Given the description of an element on the screen output the (x, y) to click on. 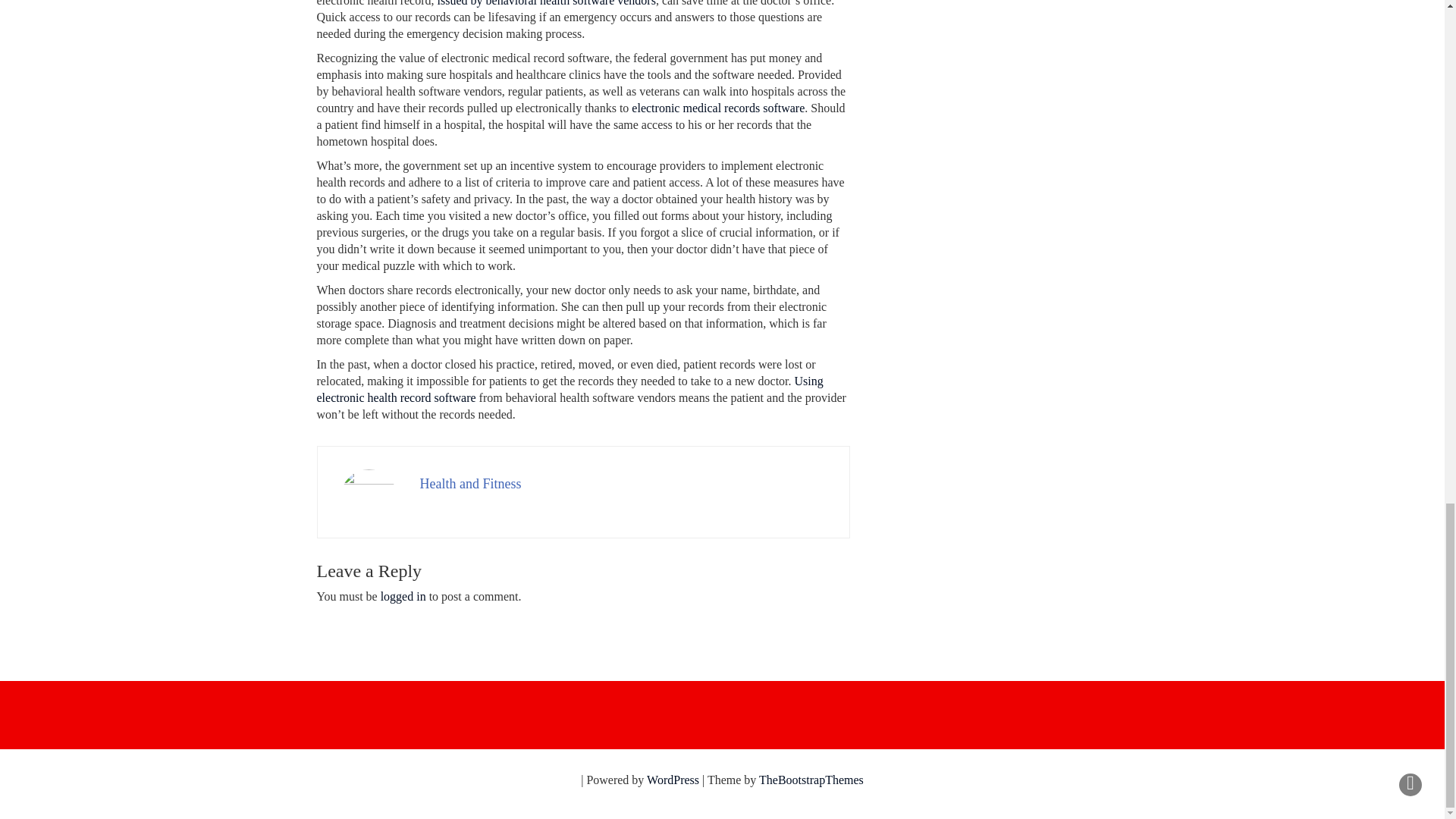
TheBootstrapThemes (810, 779)
Using electronic health record software (570, 389)
issued by behavioral health software vendors (547, 3)
Health and Fitness (470, 483)
Something I found (547, 3)
electronic medical records software (718, 107)
Find more info regarding Electronic medical record software (570, 389)
logged in (403, 595)
Behavioral health software (718, 107)
WordPress (672, 779)
